Given the description of an element on the screen output the (x, y) to click on. 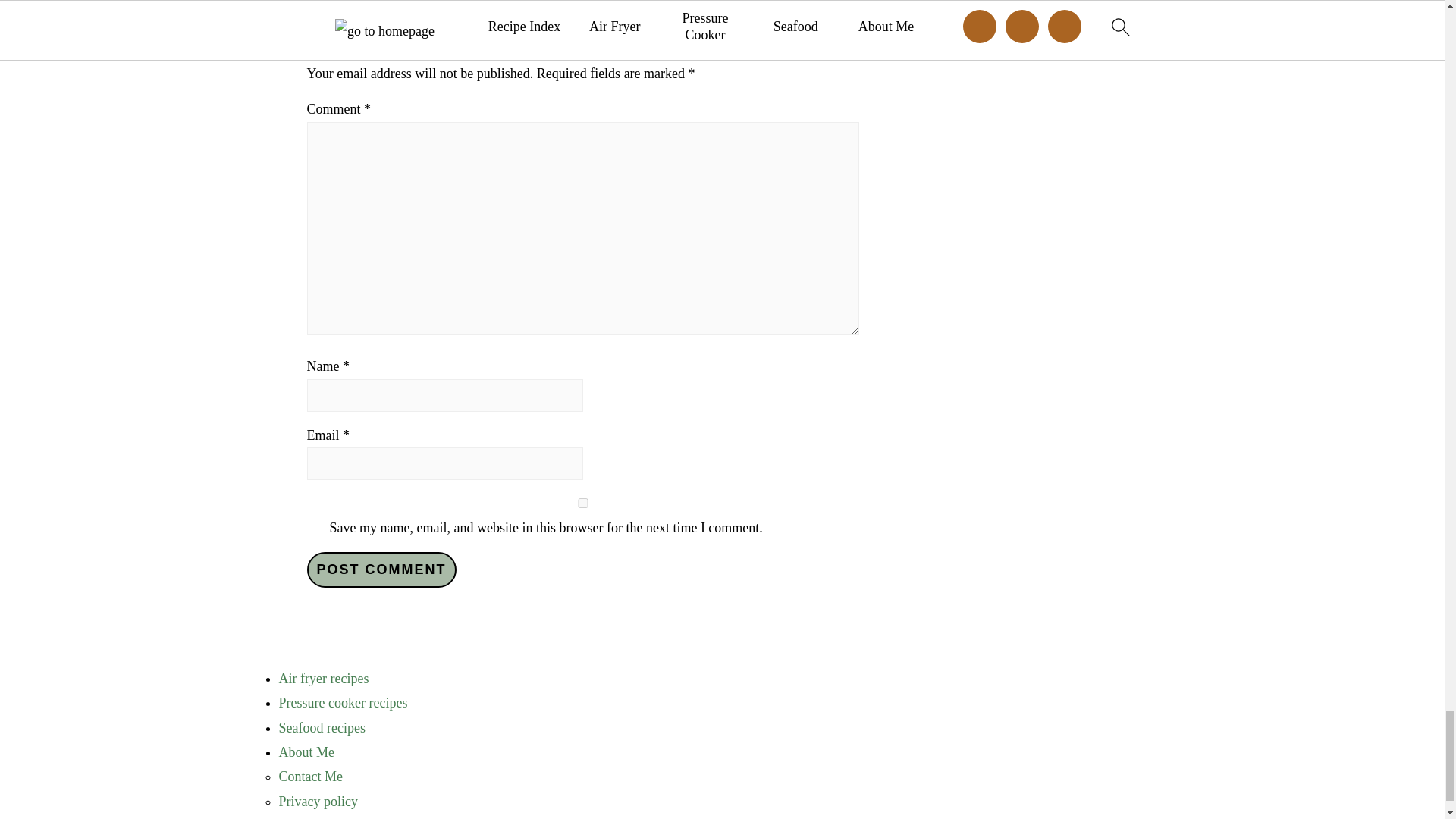
yes (582, 502)
Post Comment (380, 570)
